Given the description of an element on the screen output the (x, y) to click on. 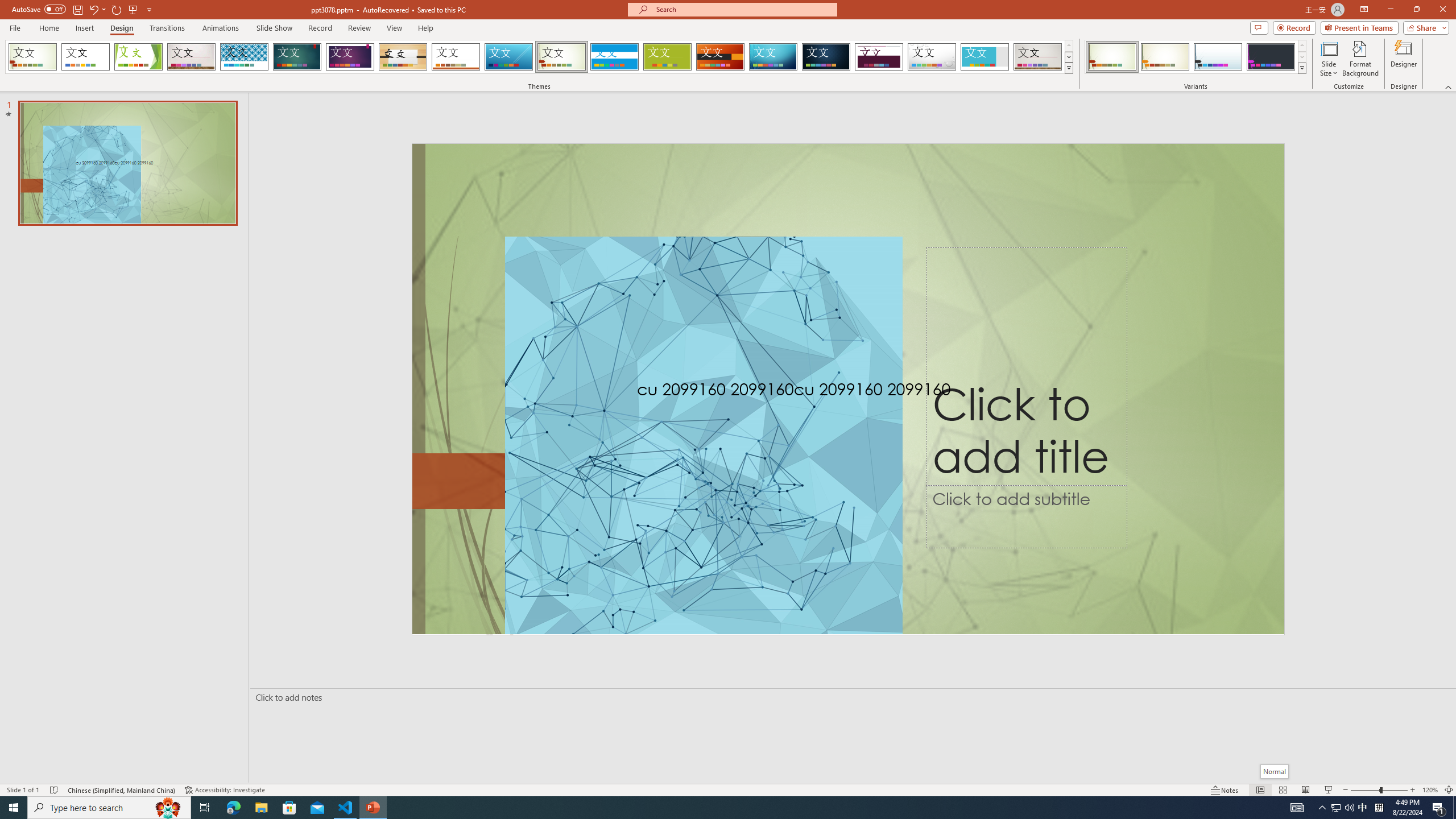
Banded Loading Preview... (614, 56)
Wisp Loading Preview... (561, 56)
Dividend Loading Preview... (879, 56)
